Given the description of an element on the screen output the (x, y) to click on. 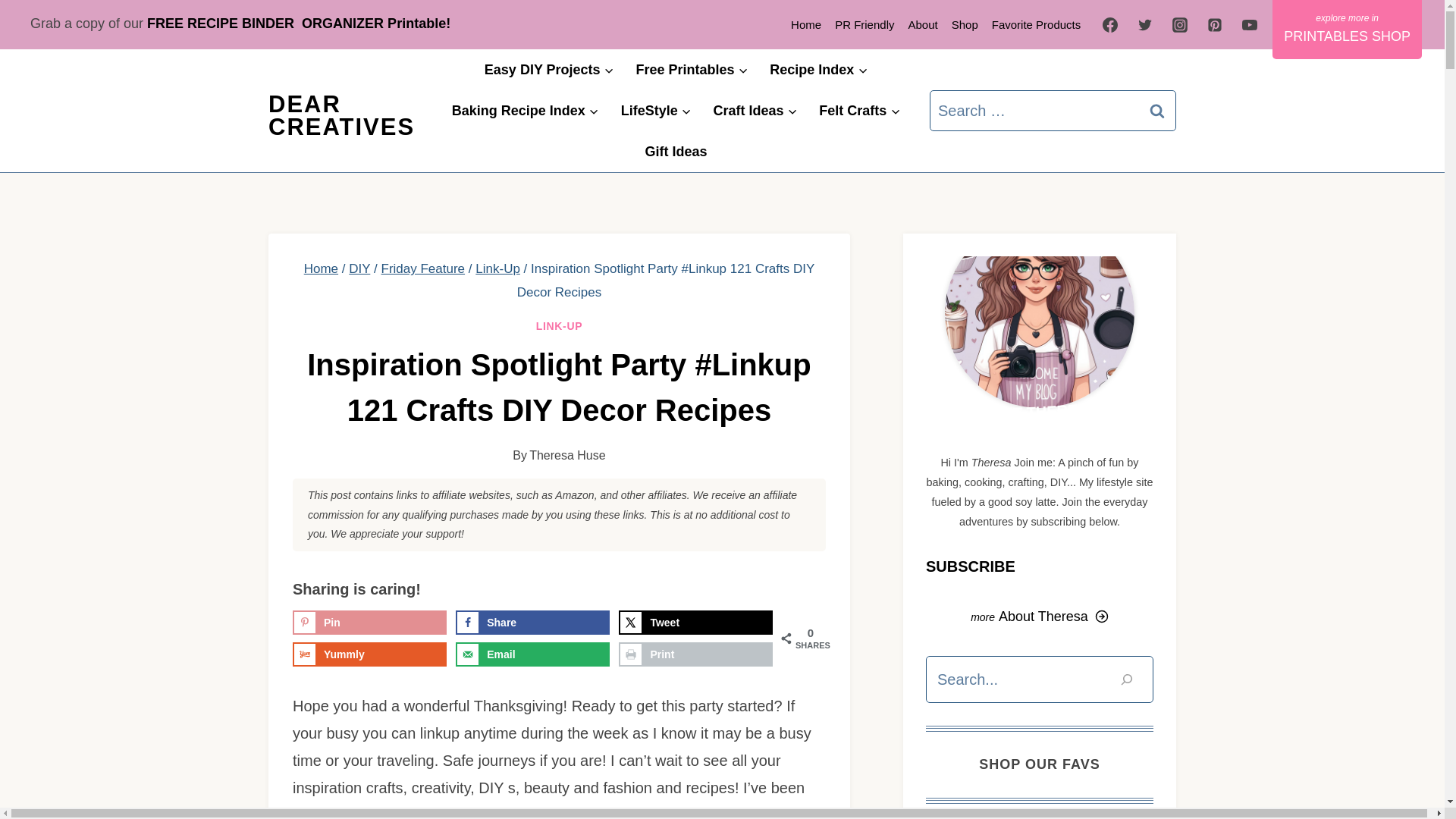
Free Printables (691, 69)
Free Printables  (691, 69)
Home (806, 24)
About (922, 24)
DEAR CREATIVES (340, 115)
Favorite Products (1036, 24)
Recipe Index (818, 69)
Easy DIY Projects (548, 69)
Search (1157, 110)
Recipe Index: Easy Recipes  (818, 69)
Search (1157, 110)
PRINTABLES SHOP (1347, 29)
PR Friendly (864, 24)
 Easy DIY Improvement Projects (548, 69)
Shop (964, 24)
